Given the description of an element on the screen output the (x, y) to click on. 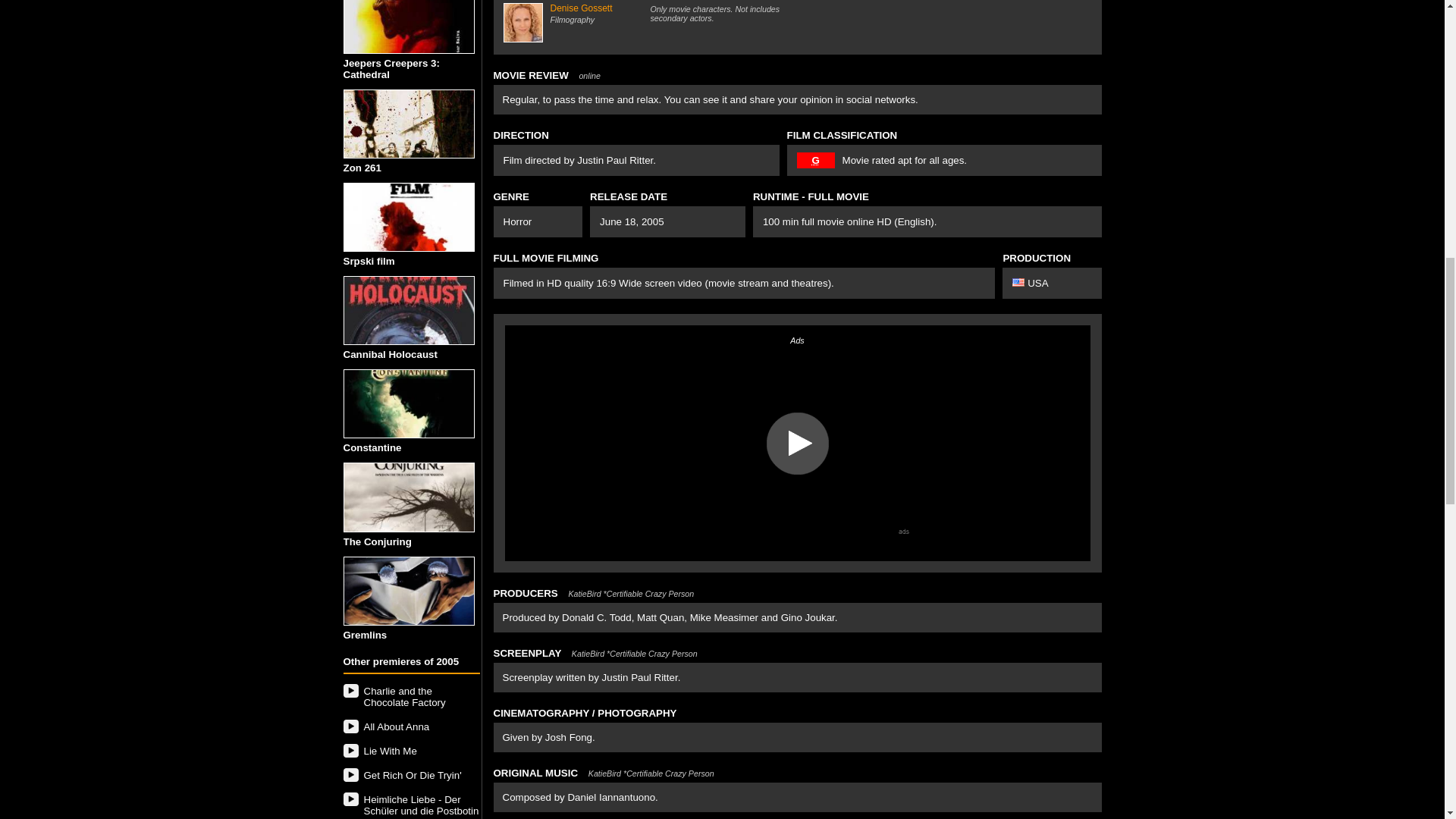
All About Anna (410, 726)
Zon 261 (410, 131)
Charlie and the Chocolate Factory, online movie (410, 696)
Srpski film, movie (408, 216)
Constantine (410, 411)
Get Rich Or Die Tryin', online movie (410, 775)
The Conjuring (410, 504)
Charlie and the Chocolate Factory (410, 696)
The Conjuring, movie (408, 496)
Constantine, movie (408, 403)
Gremlins (410, 598)
Jeepers Creepers 3: Cathedral (410, 39)
All About Anna, online movie (410, 726)
Zon 261, movie (408, 123)
Gremlins, movie (408, 590)
